Given the description of an element on the screen output the (x, y) to click on. 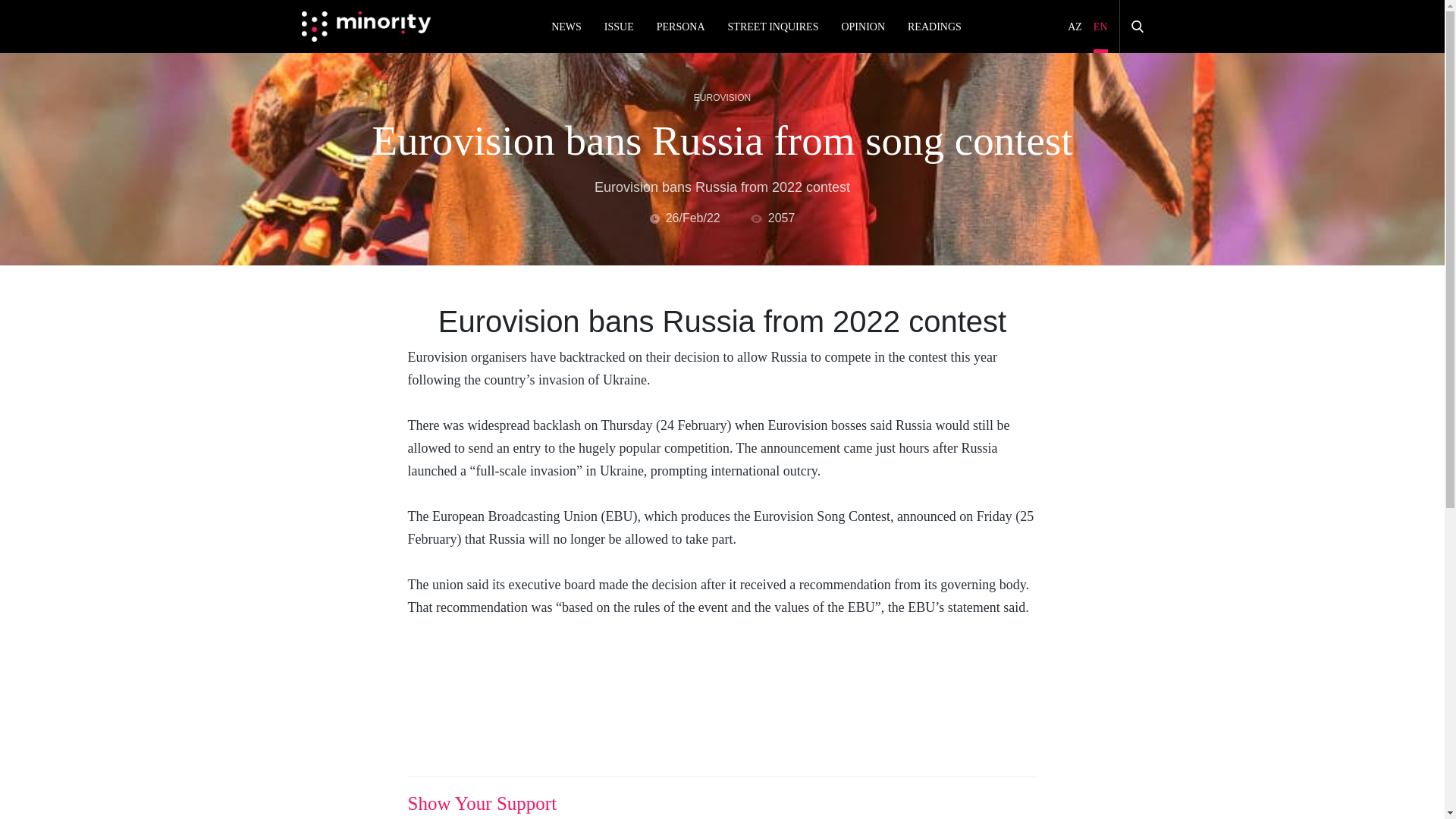
READINGS (933, 26)
PERSONA (680, 26)
Street Inquires (773, 26)
Readings (933, 26)
Persona (680, 26)
STREET INQUIRES (773, 26)
